Given the description of an element on the screen output the (x, y) to click on. 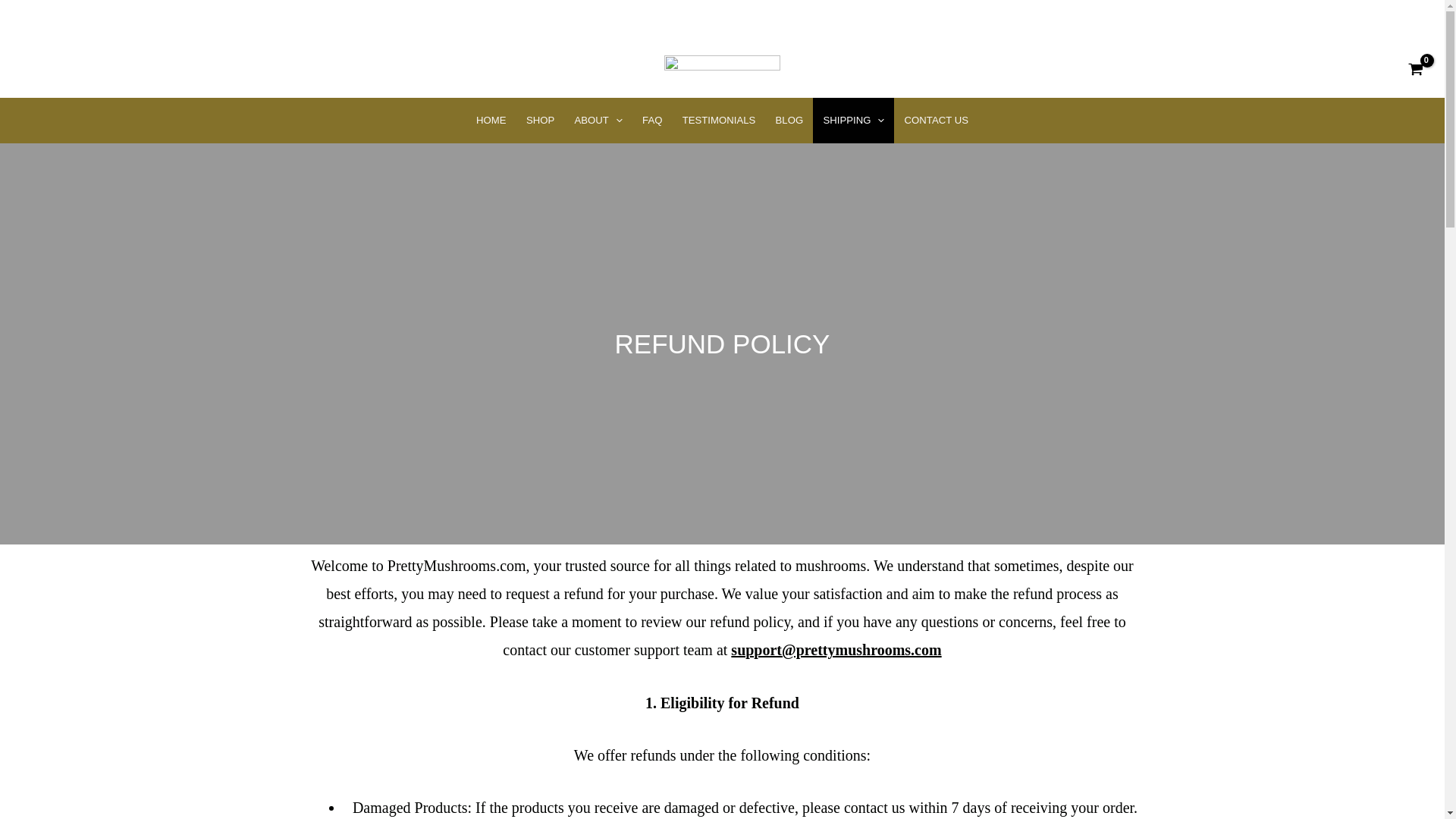
CONTACT US (935, 120)
TESTIMONIALS (718, 120)
SHIPPING (852, 120)
HOME (490, 120)
ABOUT (597, 120)
BLOG (788, 120)
SHOP (540, 120)
